Given the description of an element on the screen output the (x, y) to click on. 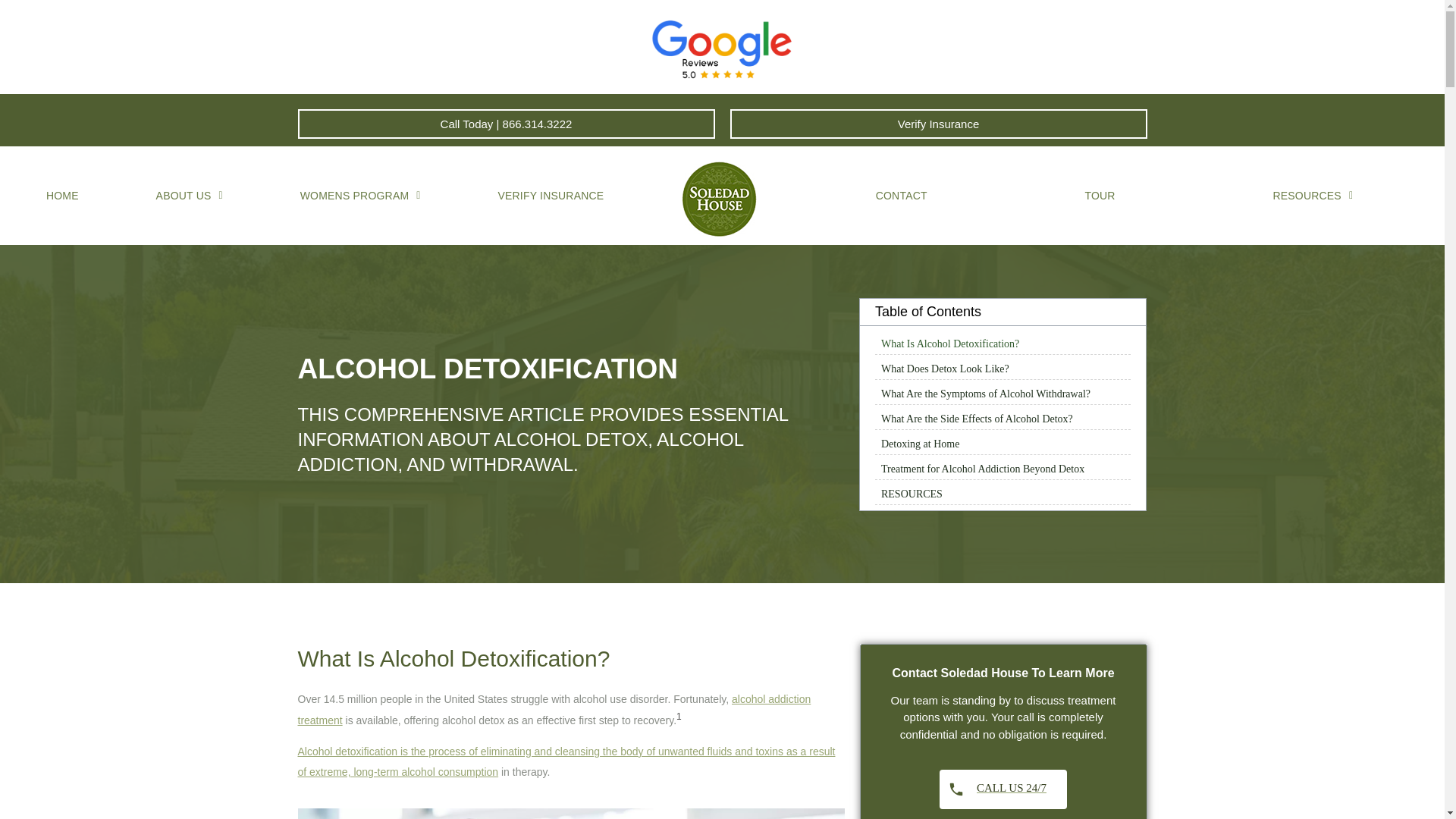
Verify Insurance (938, 123)
WOMENS PROGRAM (361, 195)
HOME (62, 195)
VERIFY INSURANCE (551, 195)
ABOUT US (189, 195)
